Given the description of an element on the screen output the (x, y) to click on. 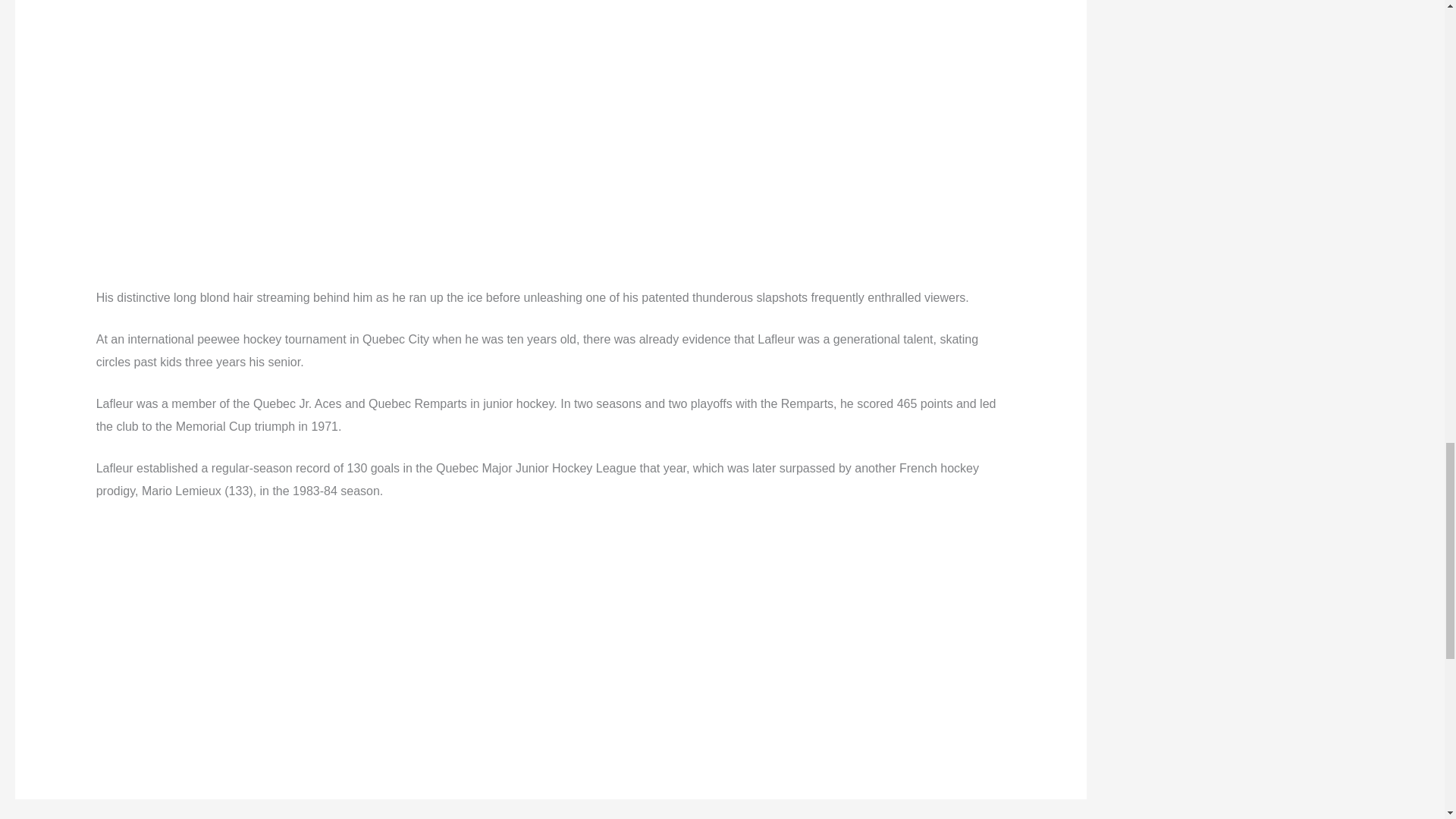
Advertisement (550, 180)
Advertisement (550, 37)
Advertisement (550, 627)
